Given the description of an element on the screen output the (x, y) to click on. 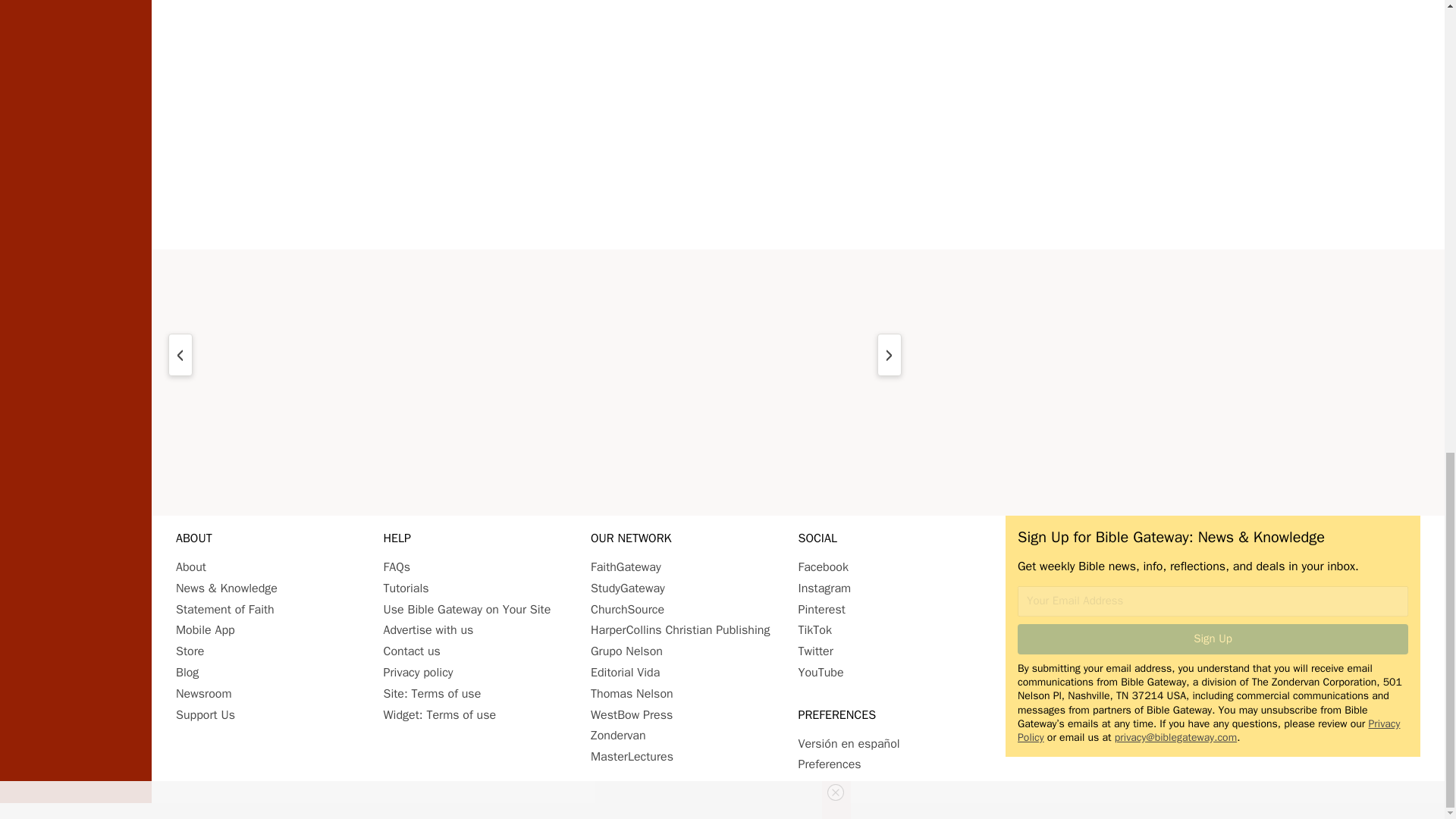
Widget: Terms of use (440, 714)
Site: Terms of use (432, 693)
3rd party ad content (797, 124)
Set your preferences for BibleGateway.com (828, 764)
3rd party ad content (797, 374)
Sign Up (1212, 639)
